Given the description of an element on the screen output the (x, y) to click on. 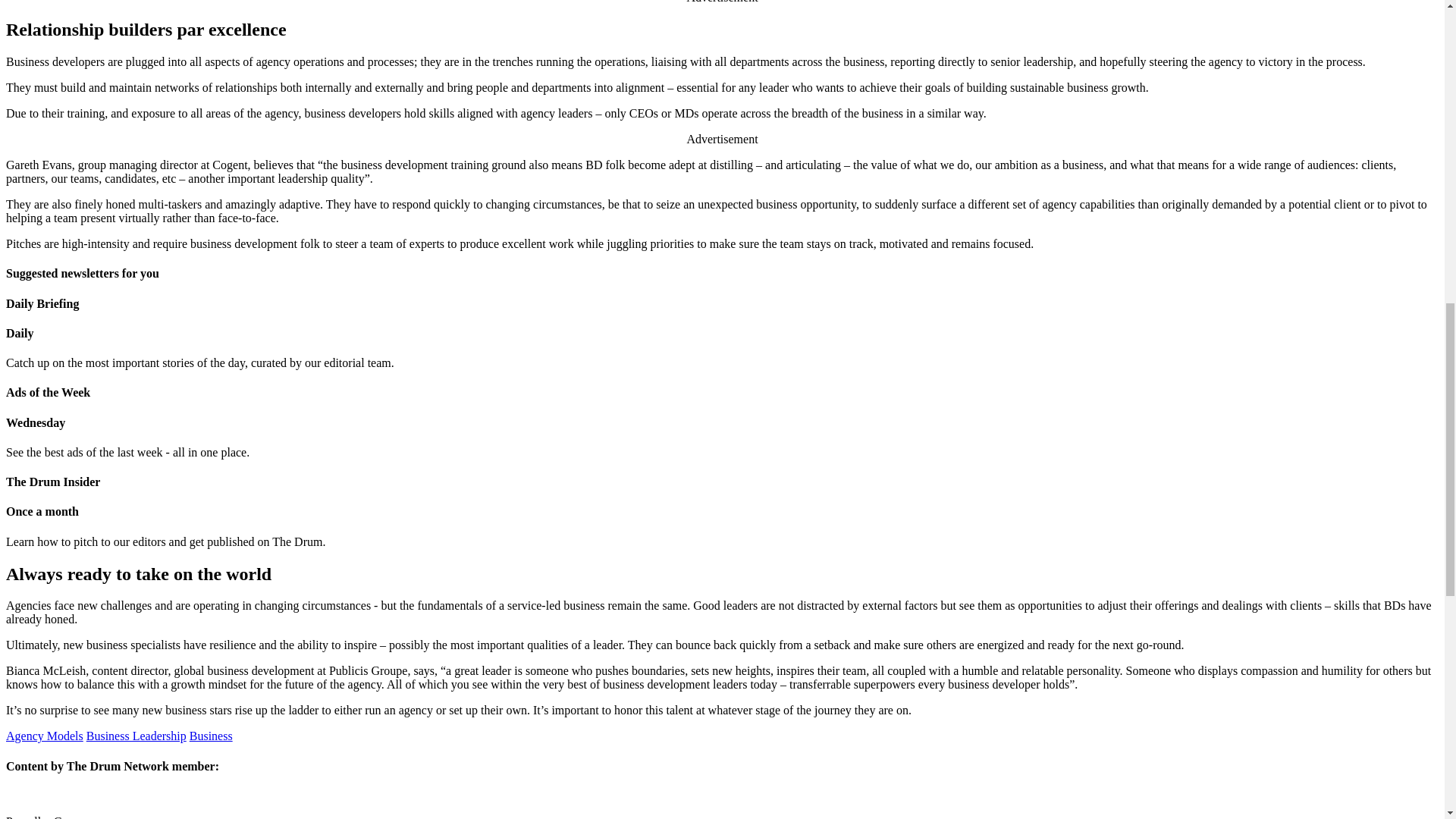
Agency Models (43, 735)
Business Leadership (135, 735)
Business (210, 735)
